Given the description of an element on the screen output the (x, y) to click on. 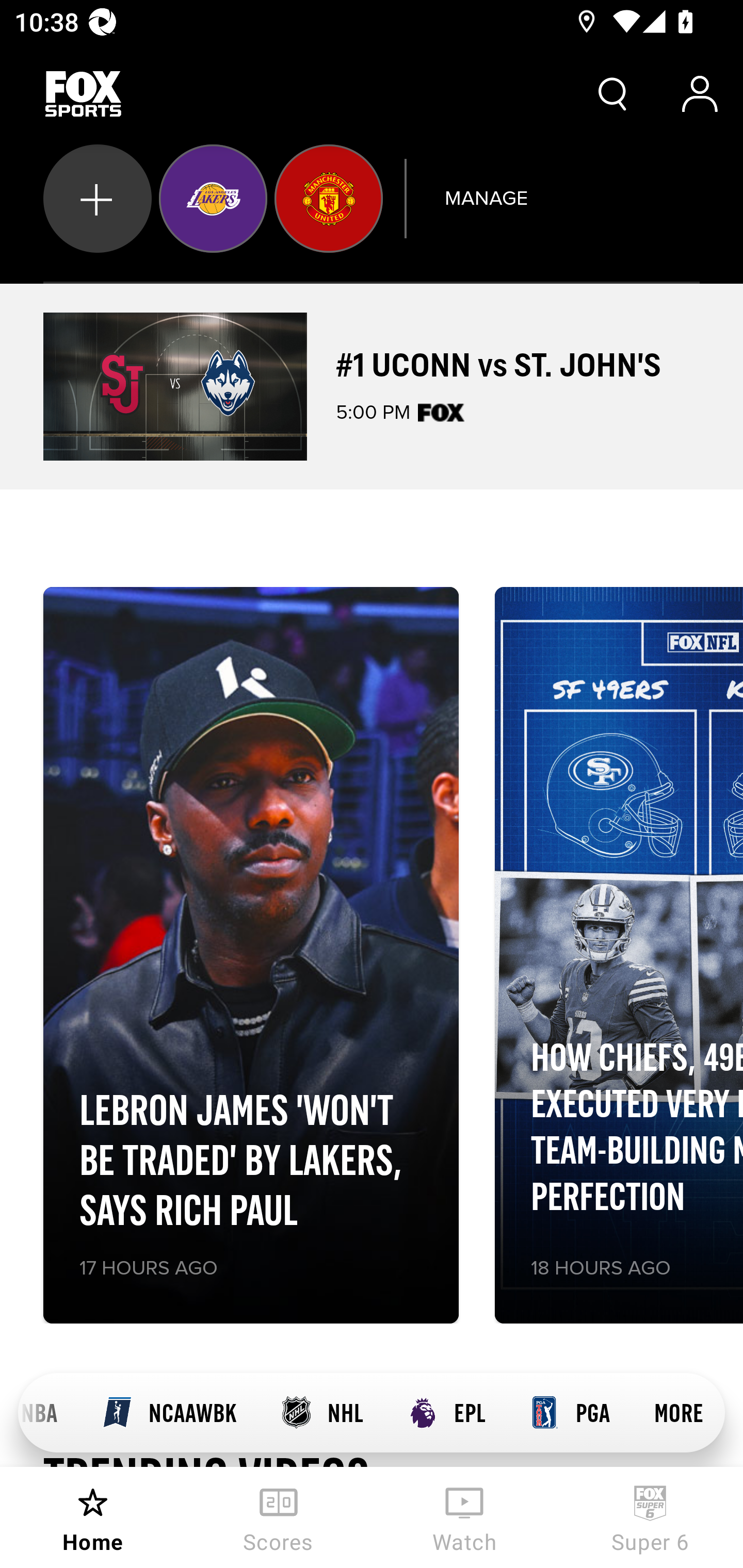
Search (612, 93)
Account (699, 93)
MANAGE (485, 198)
#1 UCONN vs ST. JOHN'S 5:00 PM (371, 386)
NCAAWBK (168, 1412)
NHL (321, 1412)
EPL (445, 1412)
PGA (569, 1412)
MORE (678, 1412)
Scores (278, 1517)
Watch (464, 1517)
Super 6 (650, 1517)
